Given the description of an element on the screen output the (x, y) to click on. 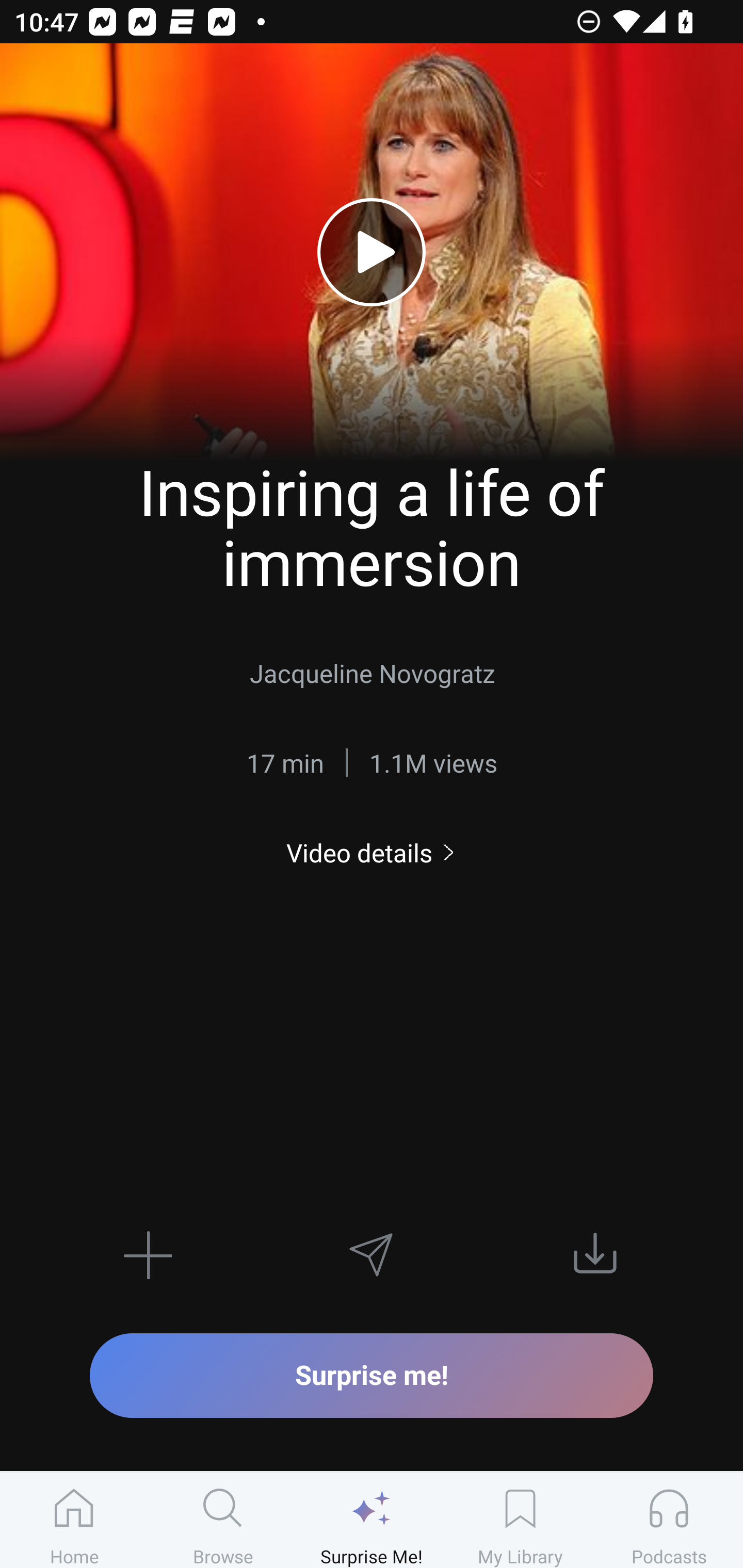
Video details (371, 852)
Surprise me! (371, 1374)
Home (74, 1520)
Browse (222, 1520)
Surprise Me! (371, 1520)
My Library (519, 1520)
Podcasts (668, 1520)
